Given the description of an element on the screen output the (x, y) to click on. 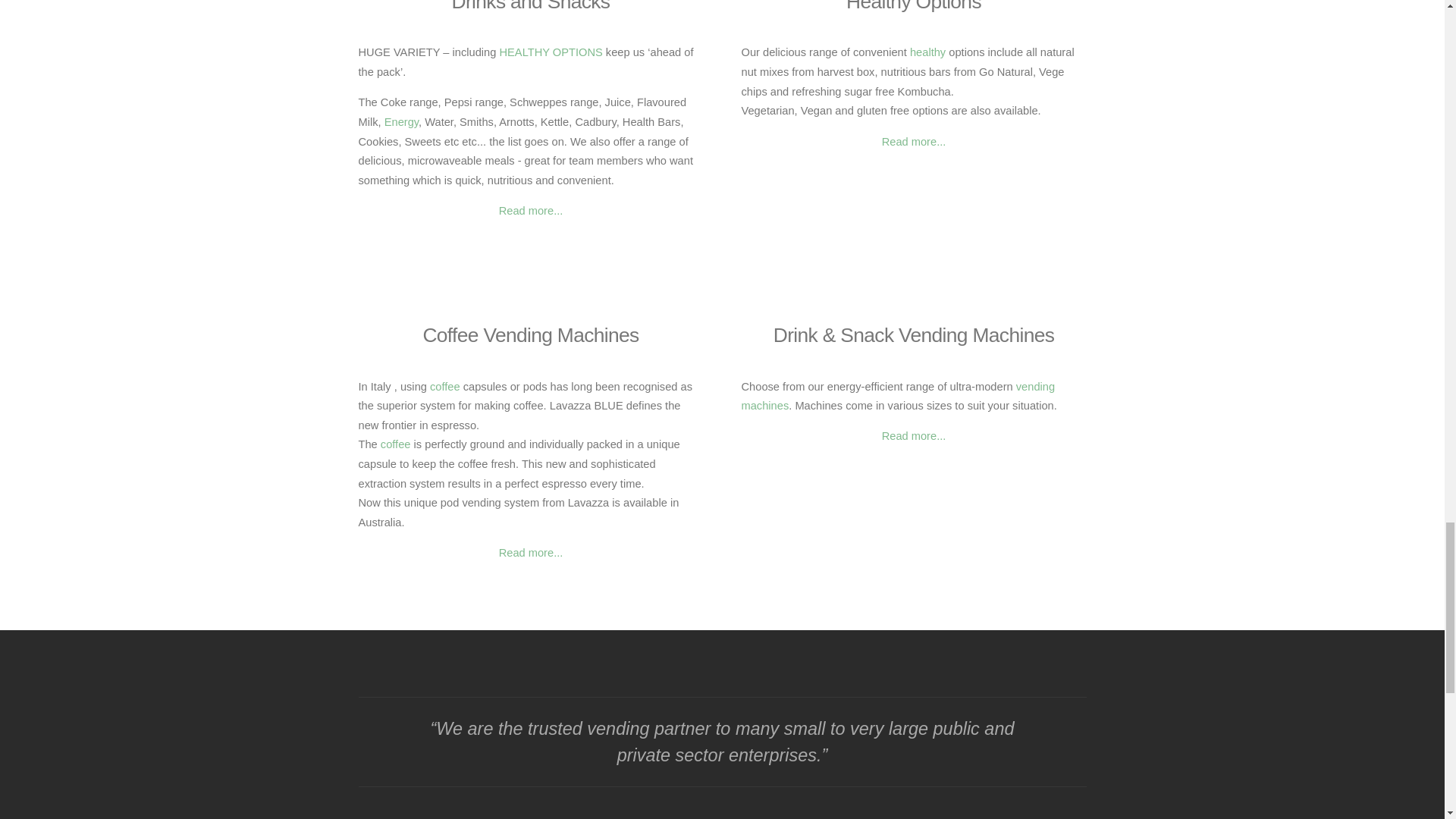
coffee (443, 386)
Read more... (914, 435)
Energy (401, 121)
Read more... (531, 552)
Read more... (914, 141)
vending machines (898, 396)
Read more... (531, 210)
healthy (927, 51)
HEALTHY OPTIONS (550, 51)
coffee (395, 444)
